Given the description of an element on the screen output the (x, y) to click on. 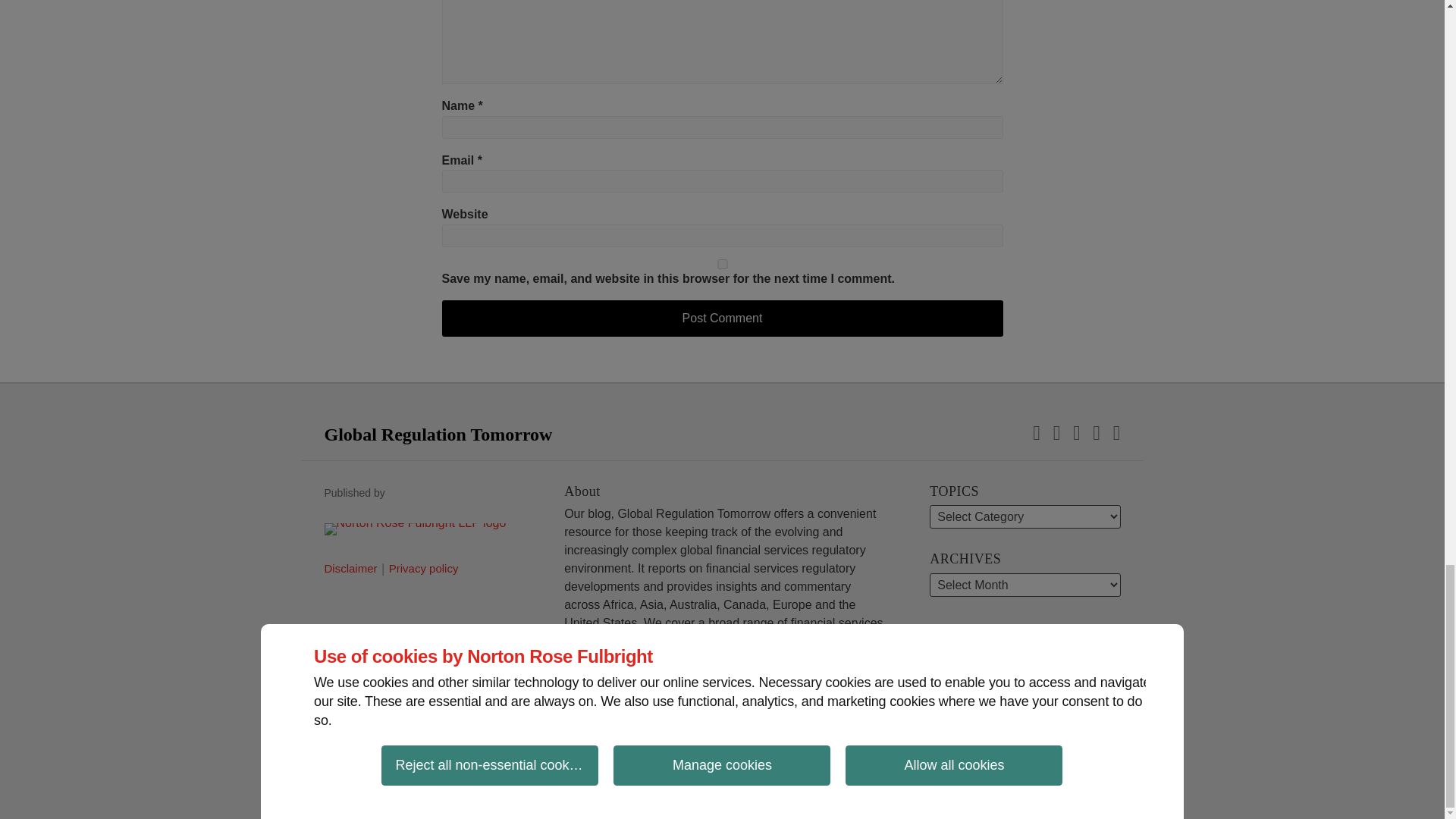
yes (722, 264)
Post Comment (722, 318)
